Given the description of an element on the screen output the (x, y) to click on. 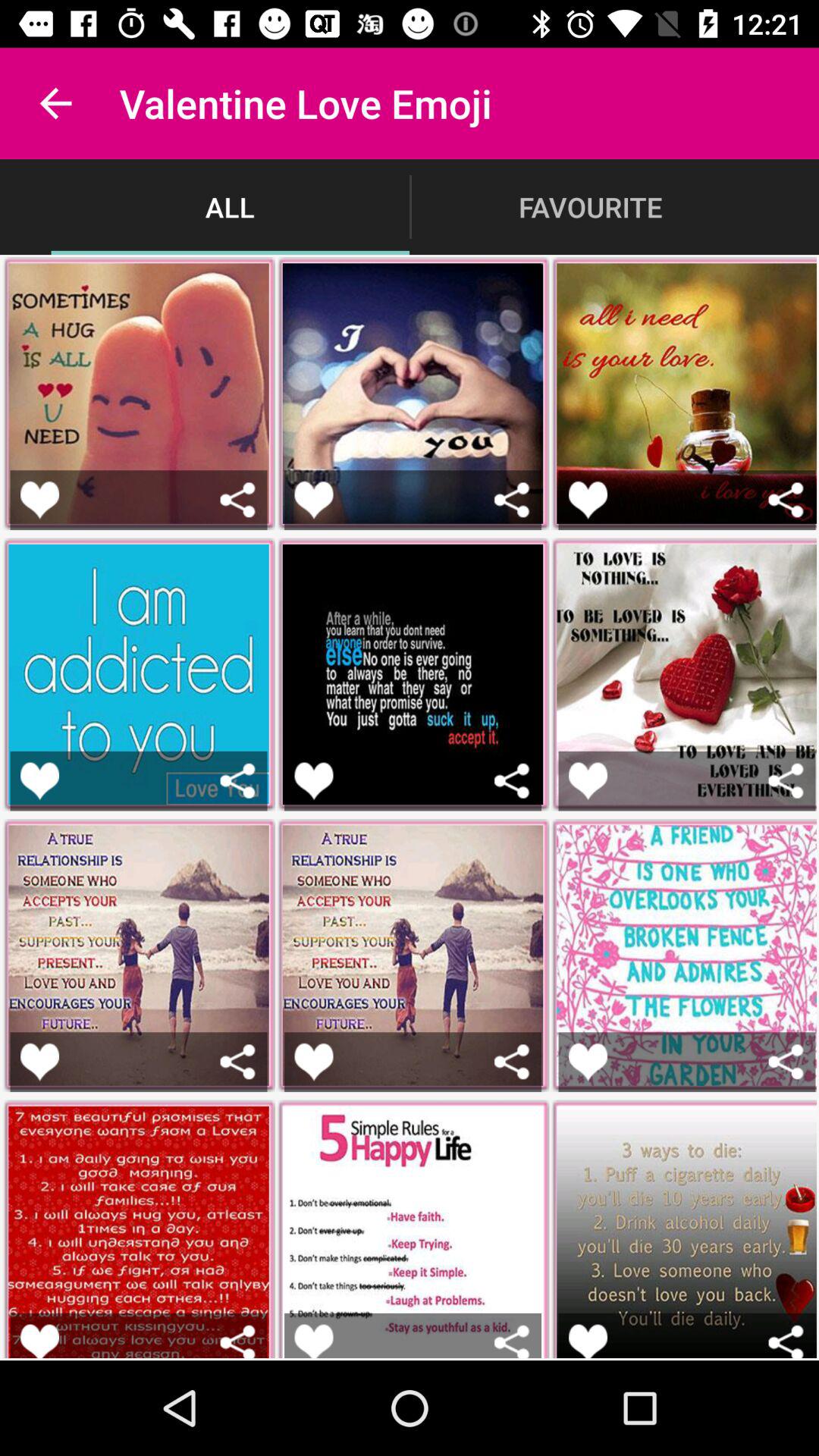
delete button (785, 1340)
